Given the description of an element on the screen output the (x, y) to click on. 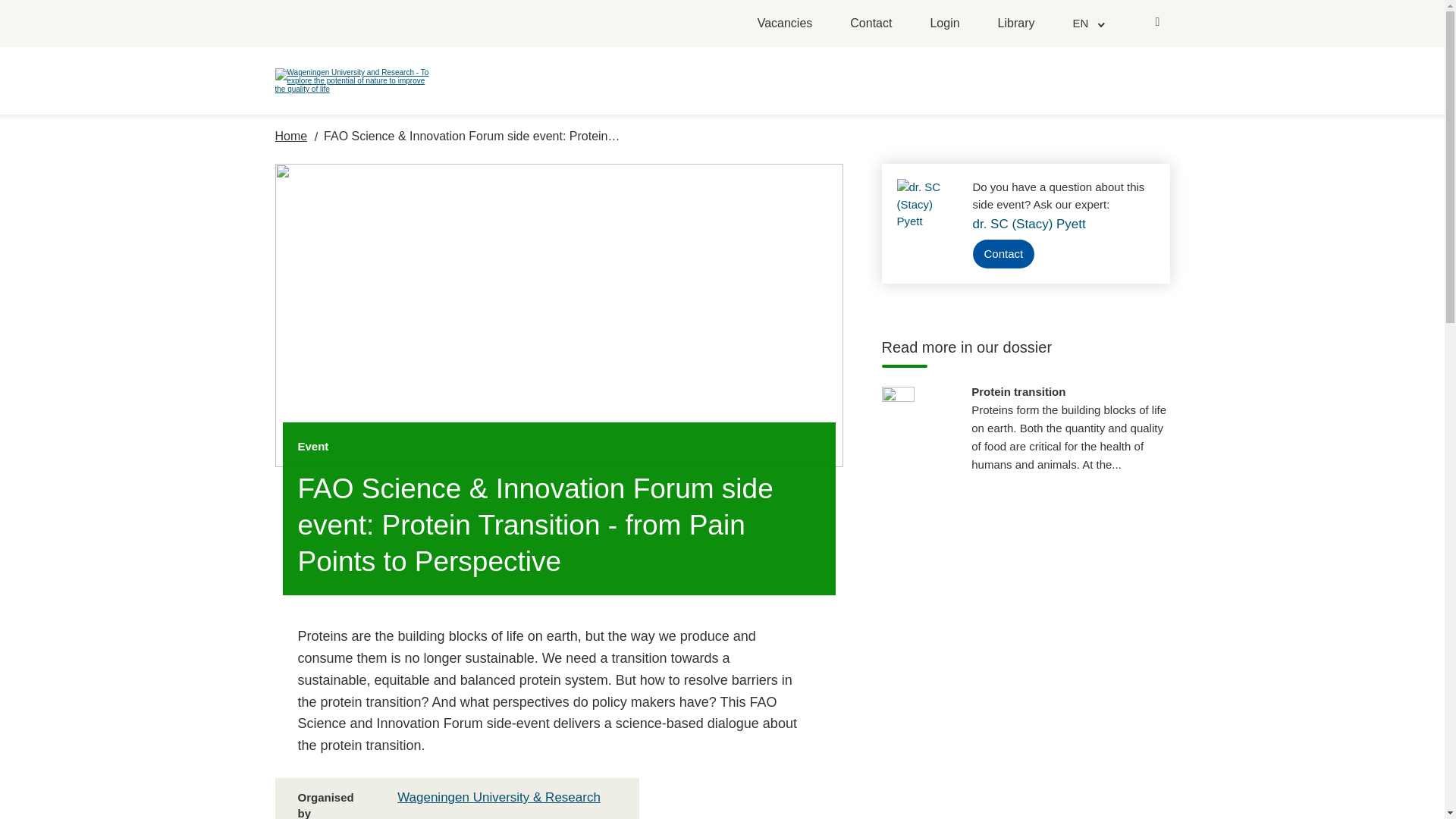
Vacancies (784, 23)
Library (1016, 23)
Library (1016, 23)
Home (291, 136)
Login (944, 23)
Contact (870, 23)
Home (291, 136)
Protein transition (1070, 428)
EN (1086, 23)
Vacancies (784, 23)
